Given the description of an element on the screen output the (x, y) to click on. 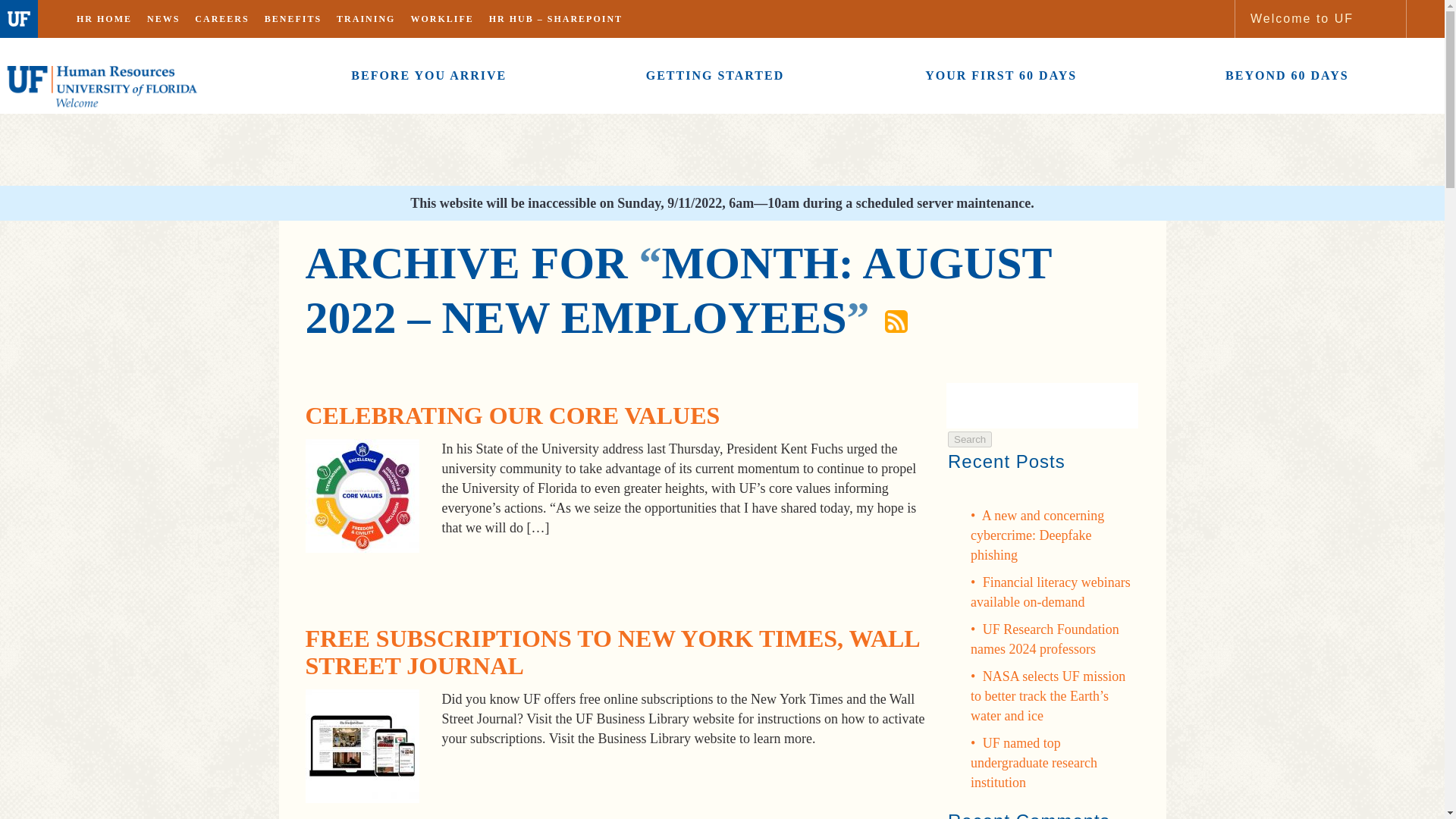
Search (969, 439)
BEYOND 60 DAYS (1286, 75)
CAREERS (221, 18)
YOUR FIRST 60 DAYS (1001, 75)
Permanent Link to Celebrating our core values (511, 415)
TRAINING (366, 18)
BEFORE YOU ARRIVE (428, 75)
WORKLIFE (441, 18)
HR HOME (103, 18)
GETTING STARTED (714, 75)
NEWS (163, 18)
Welcome to UF (1301, 18)
BENEFITS (293, 18)
